Given the description of an element on the screen output the (x, y) to click on. 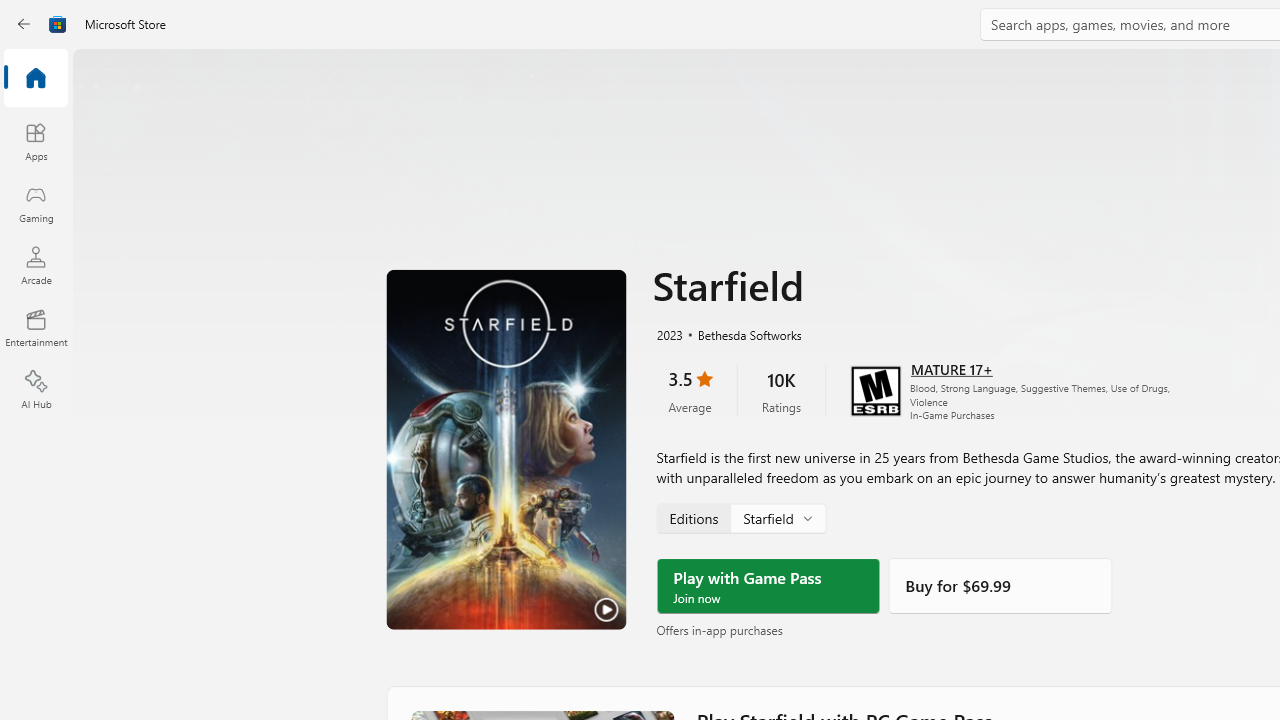
Entertainment (35, 327)
Age rating: MATURE 17+. Click for more information. (951, 367)
Play Trailer (505, 449)
Arcade (35, 265)
AI Hub (35, 390)
Buy (1000, 586)
Apps (35, 141)
Bethesda Softworks (741, 333)
3.5 stars. Click to skip to ratings and reviews (689, 389)
2023 (667, 333)
Gaming (35, 203)
Home (35, 79)
Class: Image (58, 24)
Starfield, Edition selector (740, 517)
Back (24, 24)
